Given the description of an element on the screen output the (x, y) to click on. 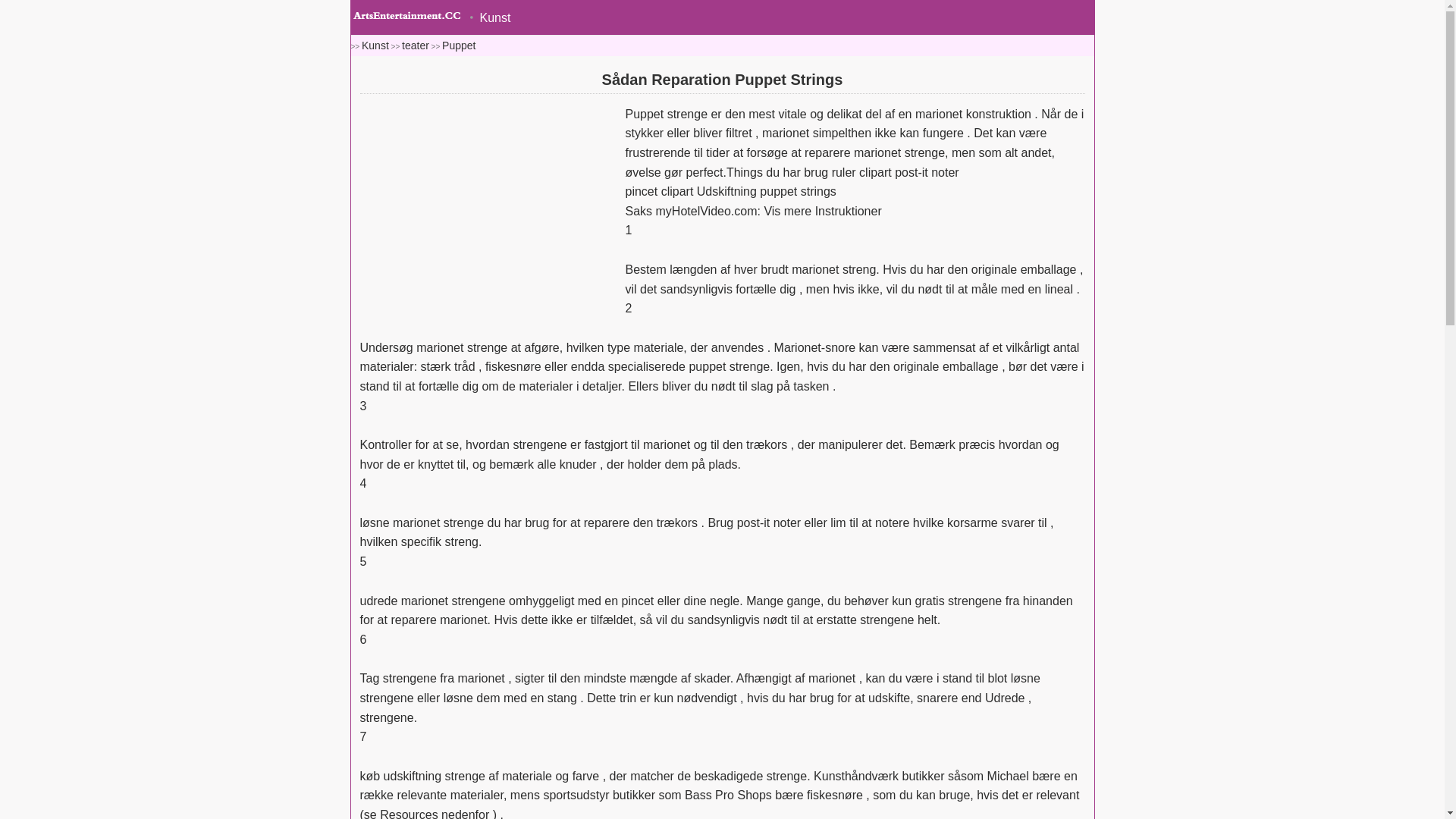
teater Element type: text (415, 45)
Advertisement Element type: hover (488, 212)
Puppet Element type: text (458, 45)
Kunst Element type: text (489, 17)
Kunst Element type: text (375, 45)
